Given the description of an element on the screen output the (x, y) to click on. 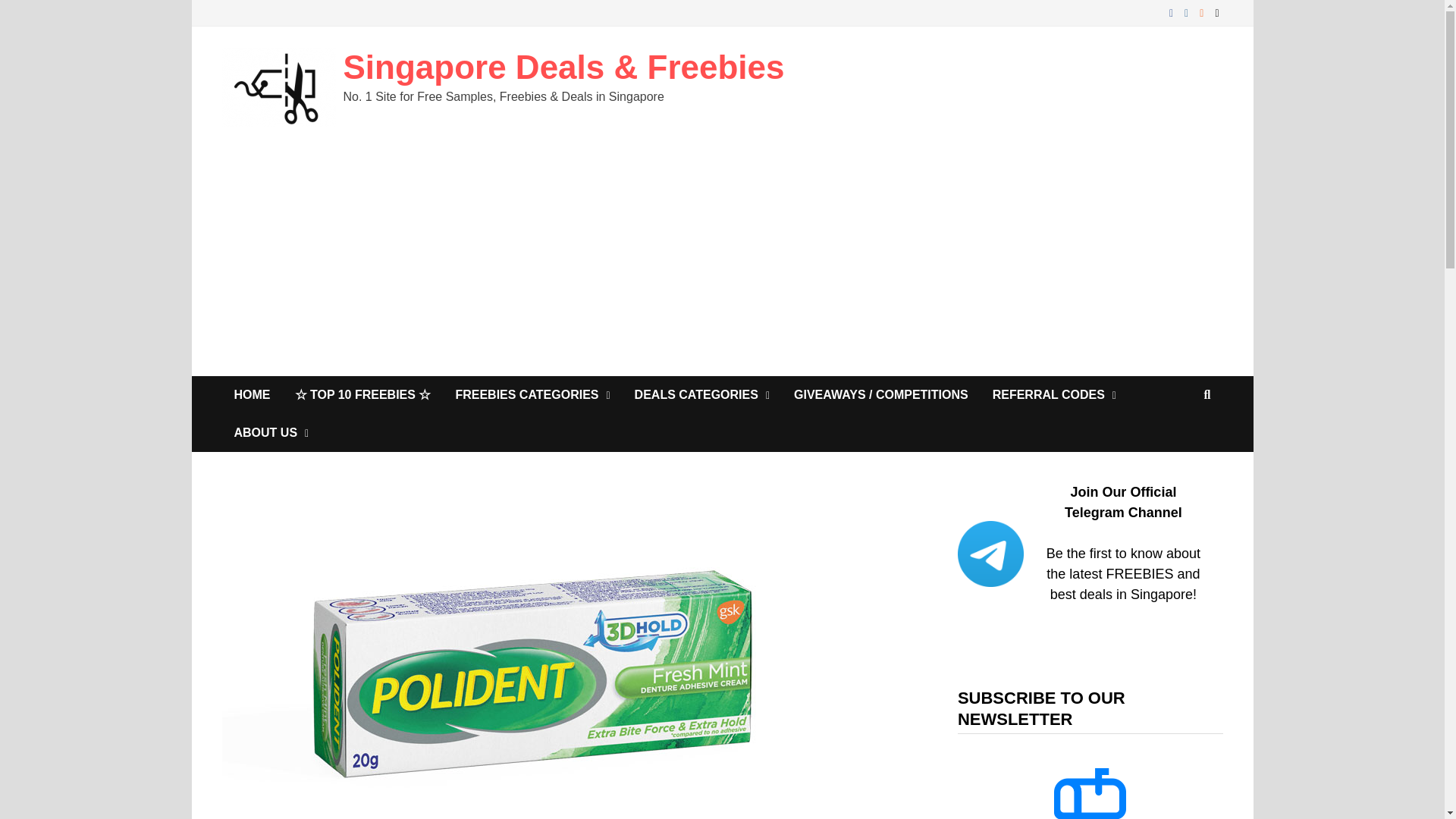
FREEBIES CATEGORIES (531, 394)
REFERRAL CODES (1053, 394)
HOME (251, 394)
DEALS CATEGORIES (702, 394)
Instagram (1187, 11)
RSS (1203, 11)
Facebook (1173, 11)
ABOUT US (270, 433)
